Given the description of an element on the screen output the (x, y) to click on. 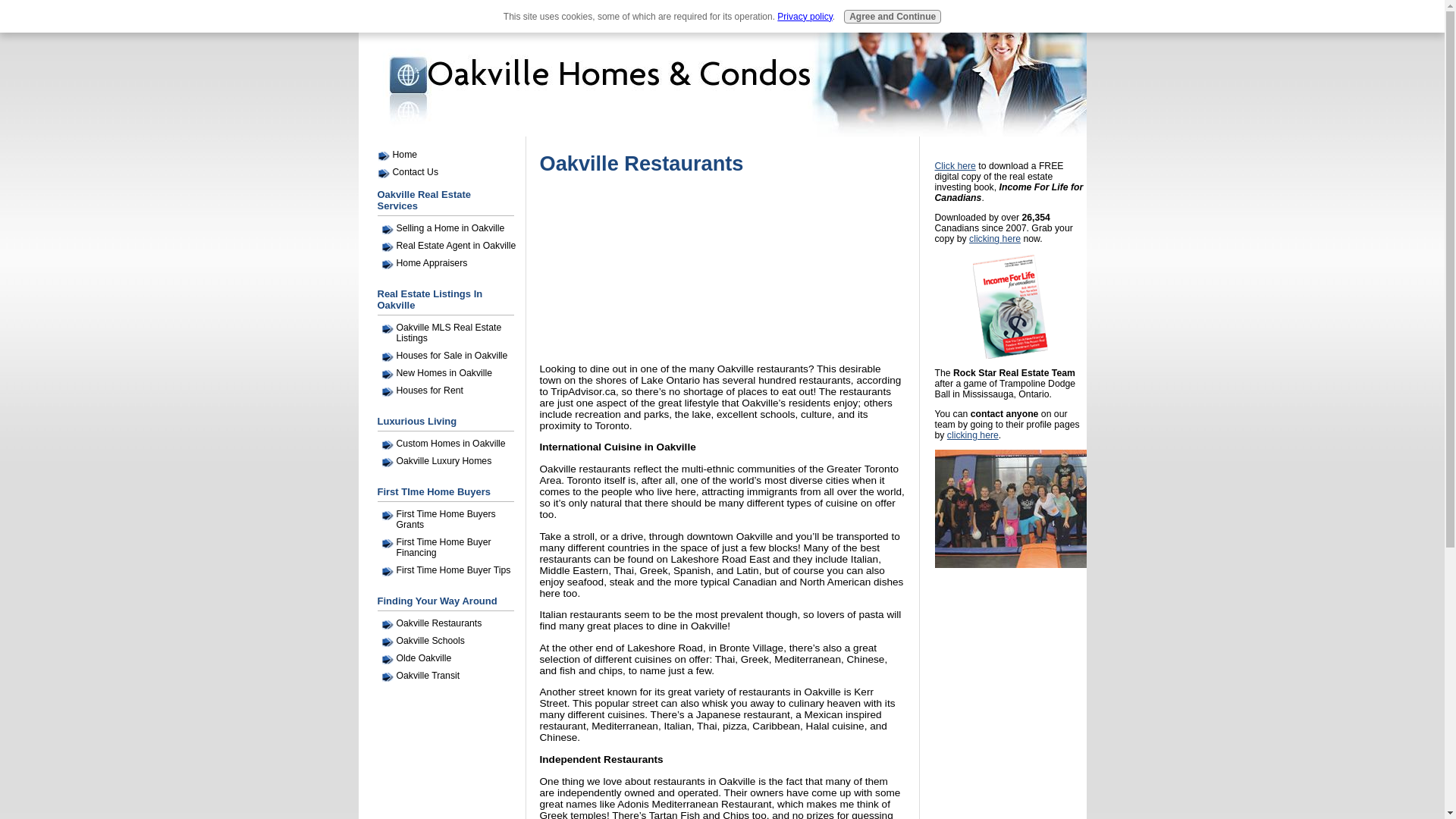
New Homes in Oakville (452, 372)
Houses for Sale in Oakville (452, 355)
Home (451, 154)
Home Appraisers (452, 263)
Click here (954, 165)
Oakville Luxury Homes (452, 460)
Oakville Restaurants (452, 622)
Custom Homes in Oakville (452, 443)
First Time Home Buyer Financing (452, 547)
First Time Home Buyers Grants (452, 519)
